Given the description of an element on the screen output the (x, y) to click on. 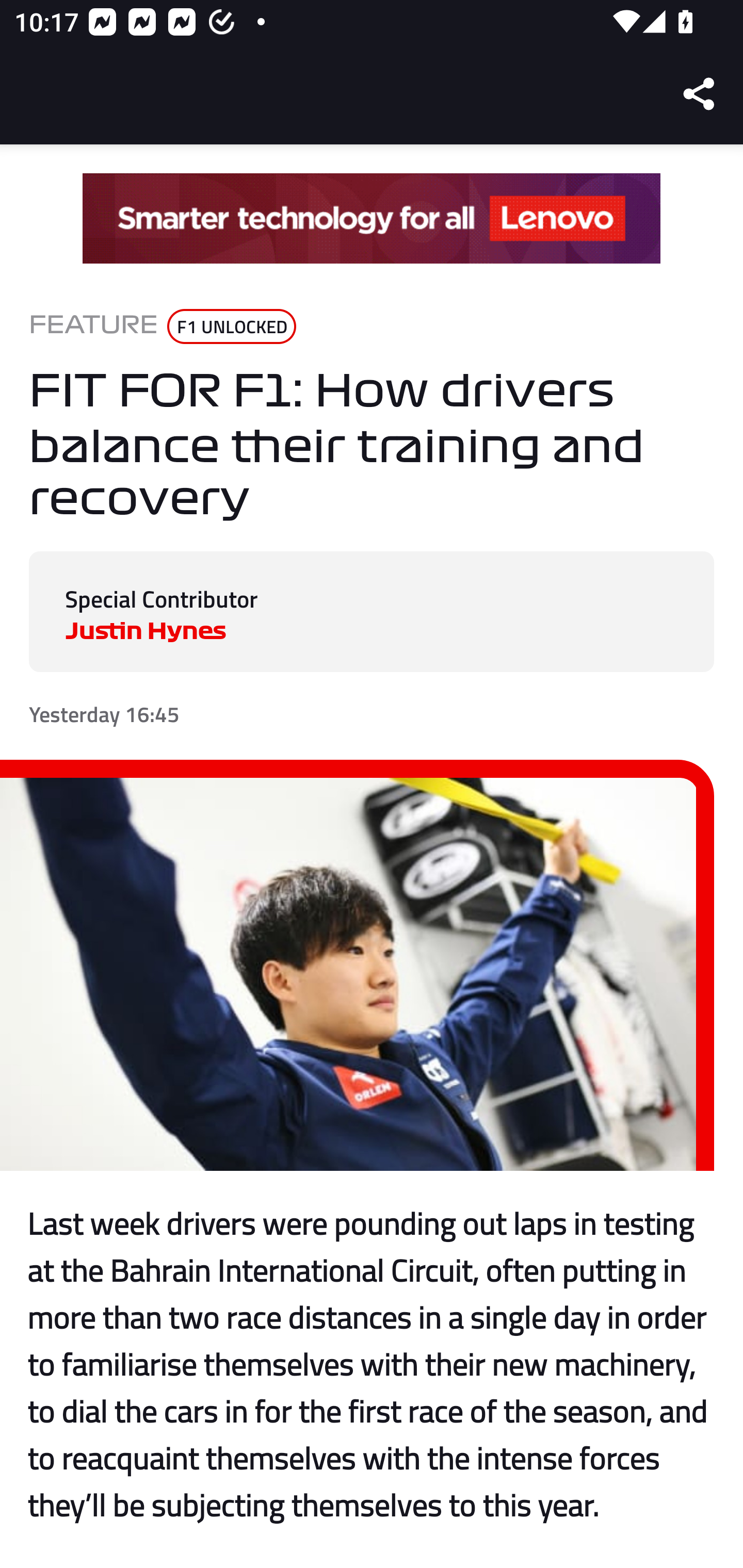
Share (699, 93)
it (371, 218)
